Given the description of an element on the screen output the (x, y) to click on. 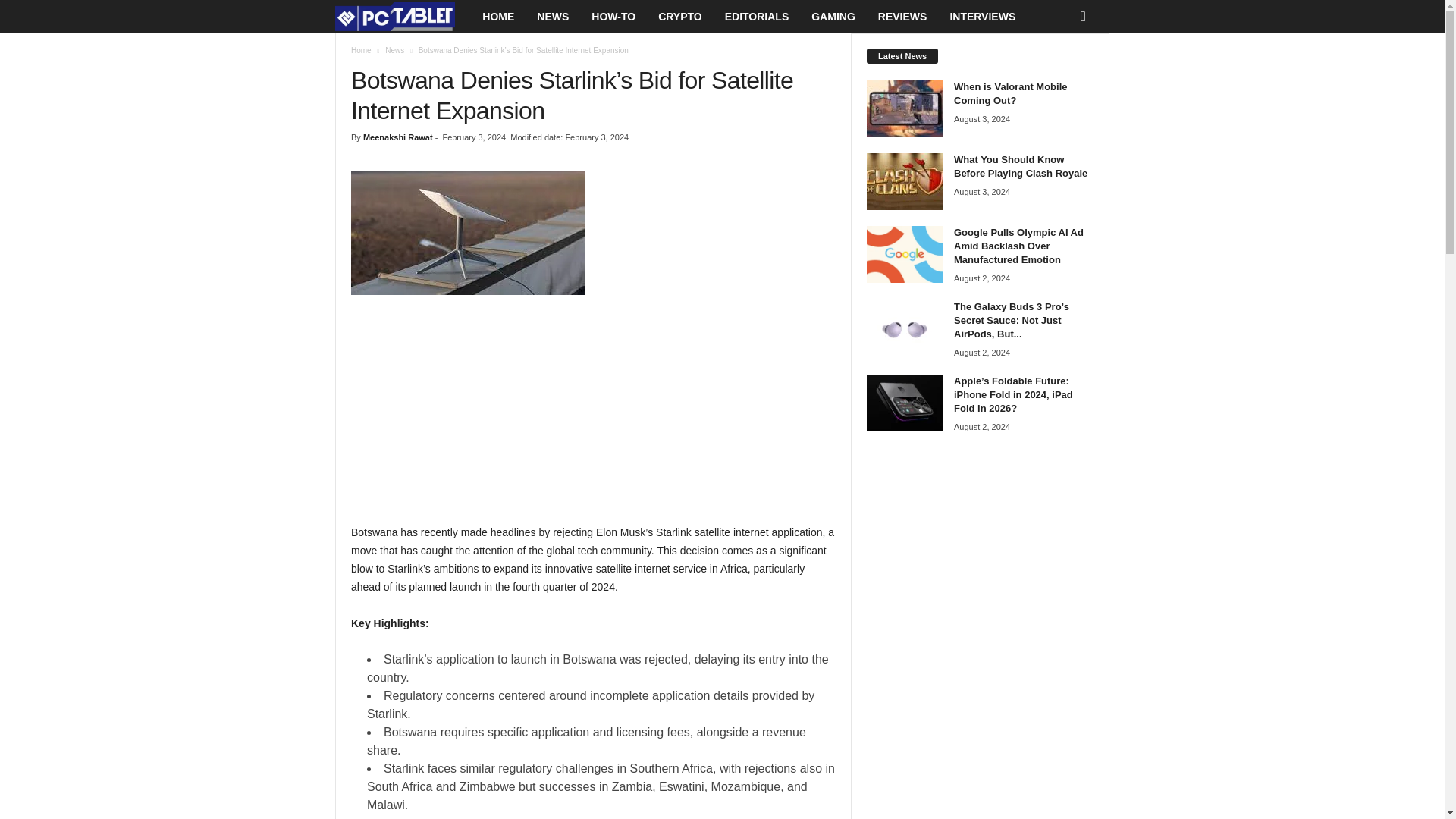
CRYPTO (679, 16)
INTERVIEWS (981, 16)
View all posts in News (394, 49)
GAMING (832, 16)
REVIEWS (902, 16)
Home (360, 49)
HOME (497, 16)
EDITORIALS (756, 16)
Meenakshi Rawat (397, 136)
PC-Tablet.com (402, 17)
